Given the description of an element on the screen output the (x, y) to click on. 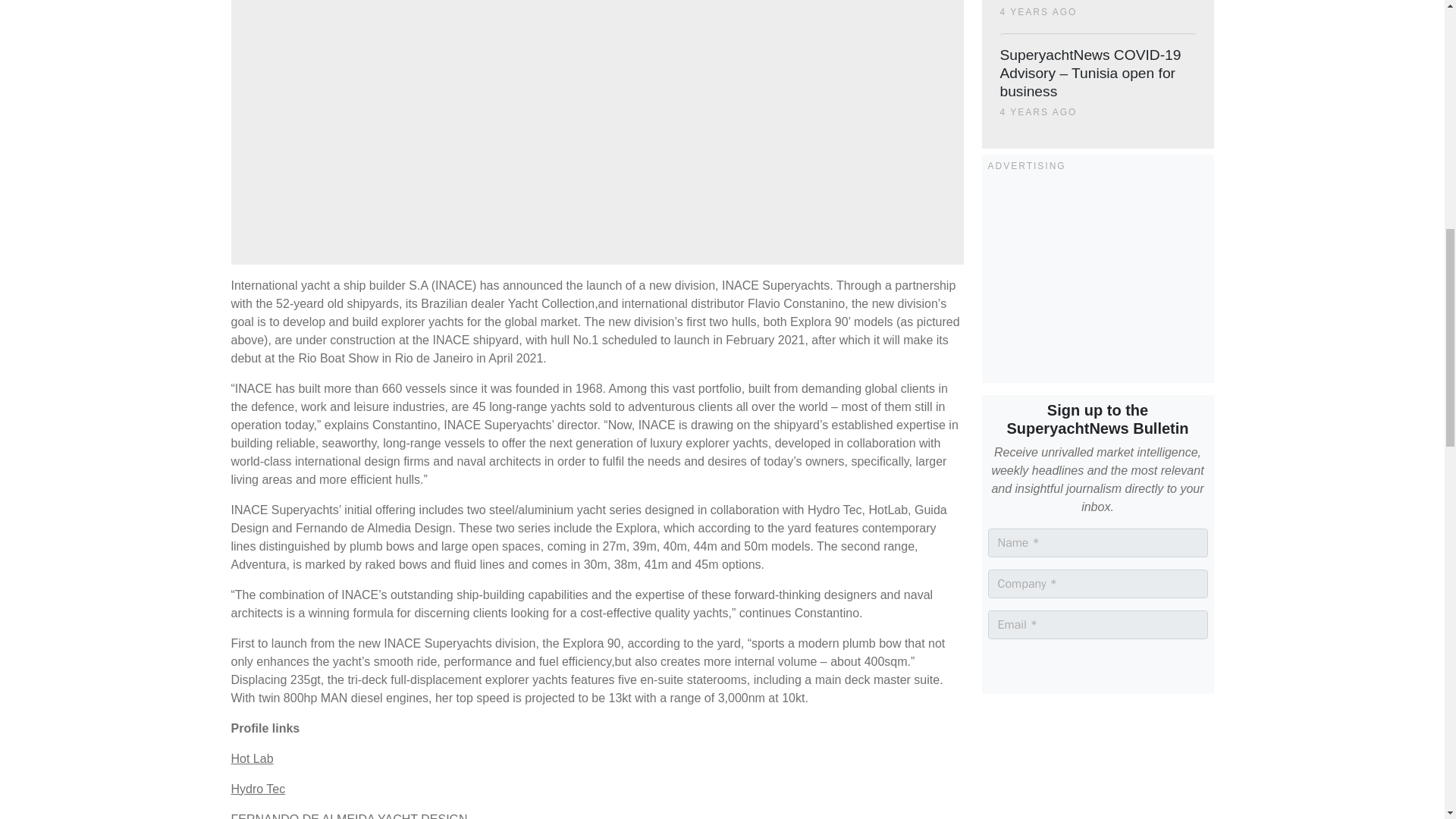
Hot Lab (251, 758)
FERNANDO DE ALMEIDA YACHT DESIGN (348, 816)
Hydro Tec (257, 788)
